Given the description of an element on the screen output the (x, y) to click on. 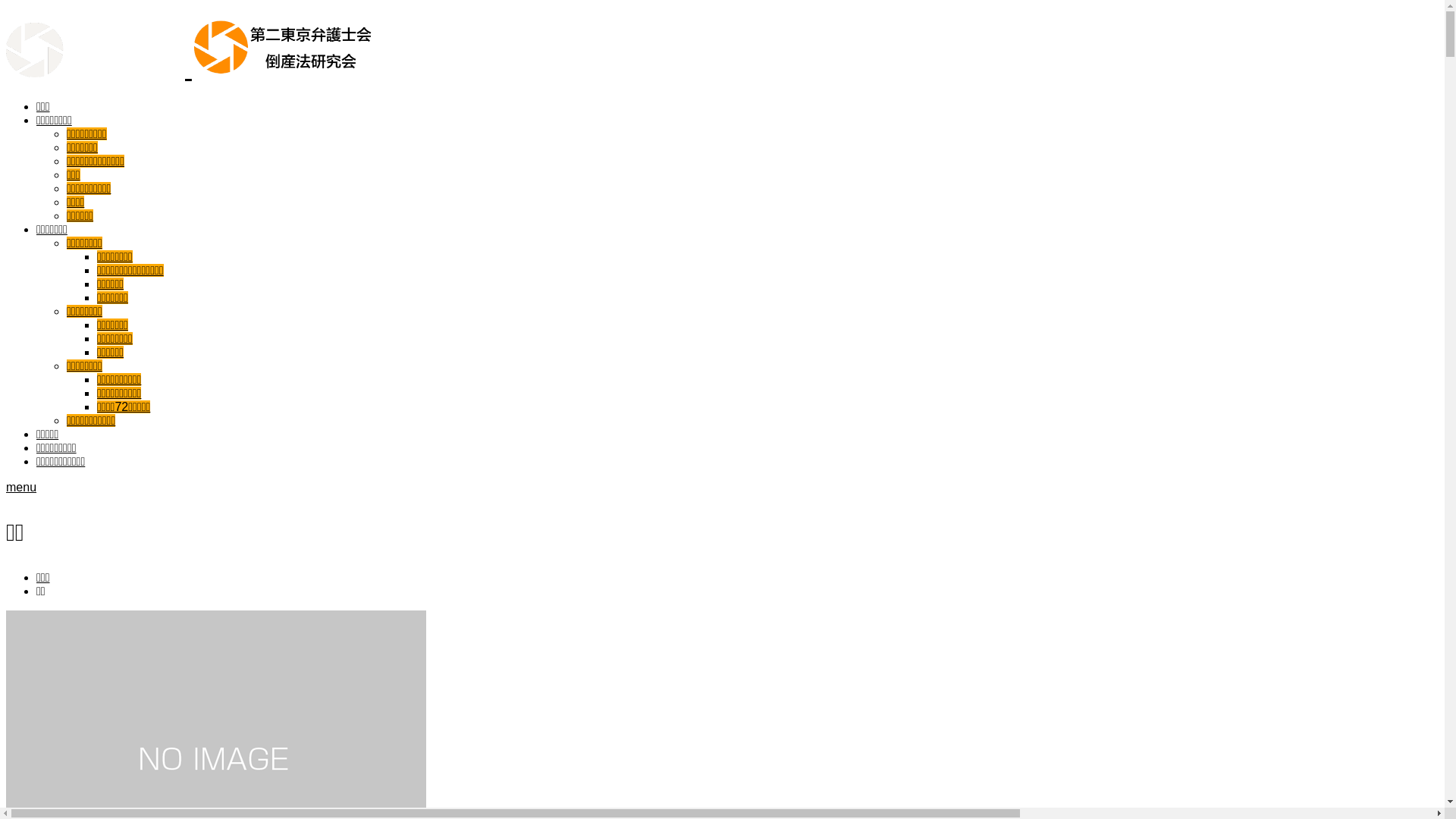
menu Element type: text (21, 486)
